Given the description of an element on the screen output the (x, y) to click on. 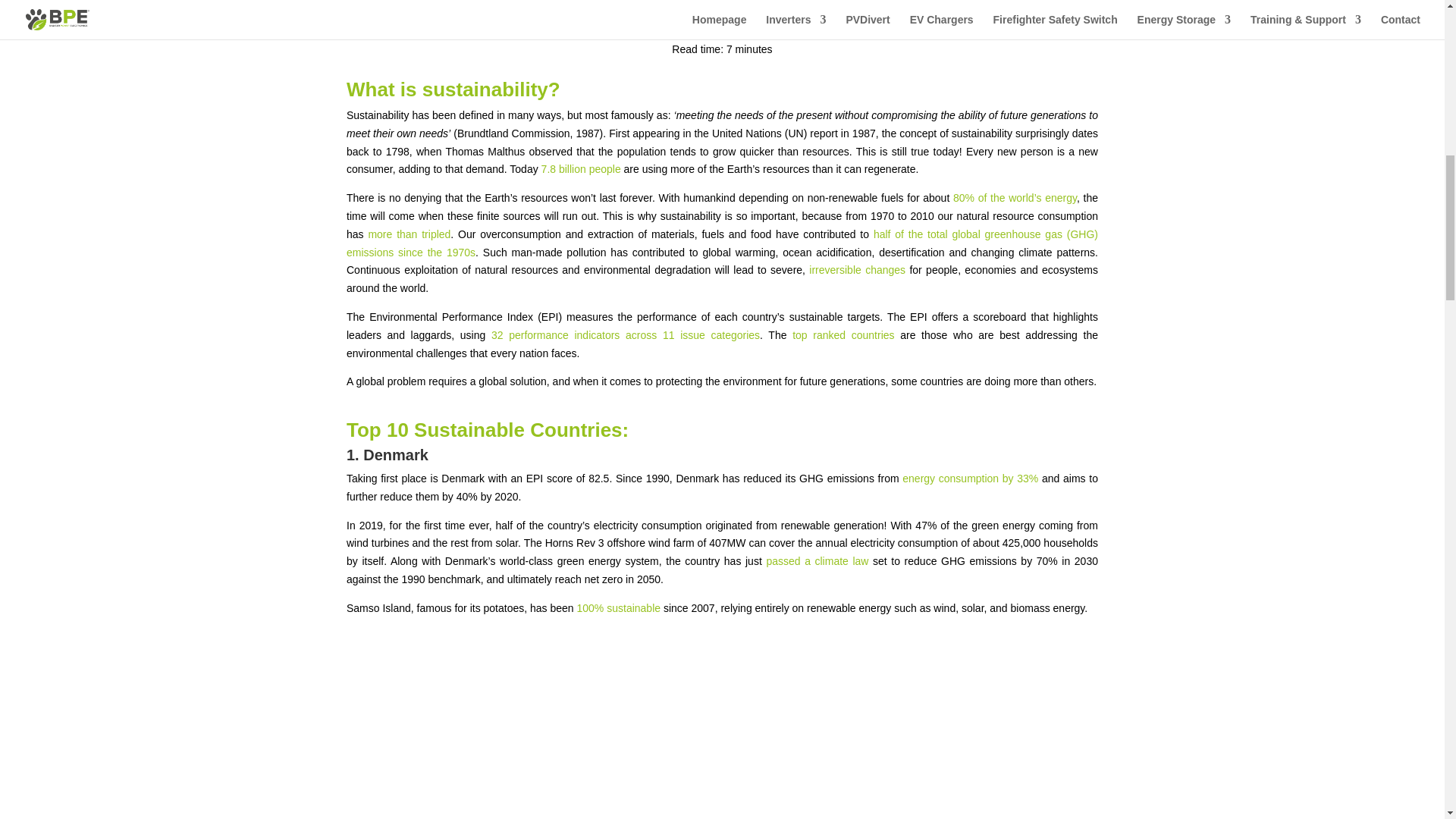
 irreversible changes (855, 269)
top ranked countries (842, 335)
7.8 billion people (581, 168)
32 performance indicators across 11 issue categories (626, 335)
passed a climate law (816, 561)
 more than tripled (407, 234)
Denmark (721, 724)
